Given the description of an element on the screen output the (x, y) to click on. 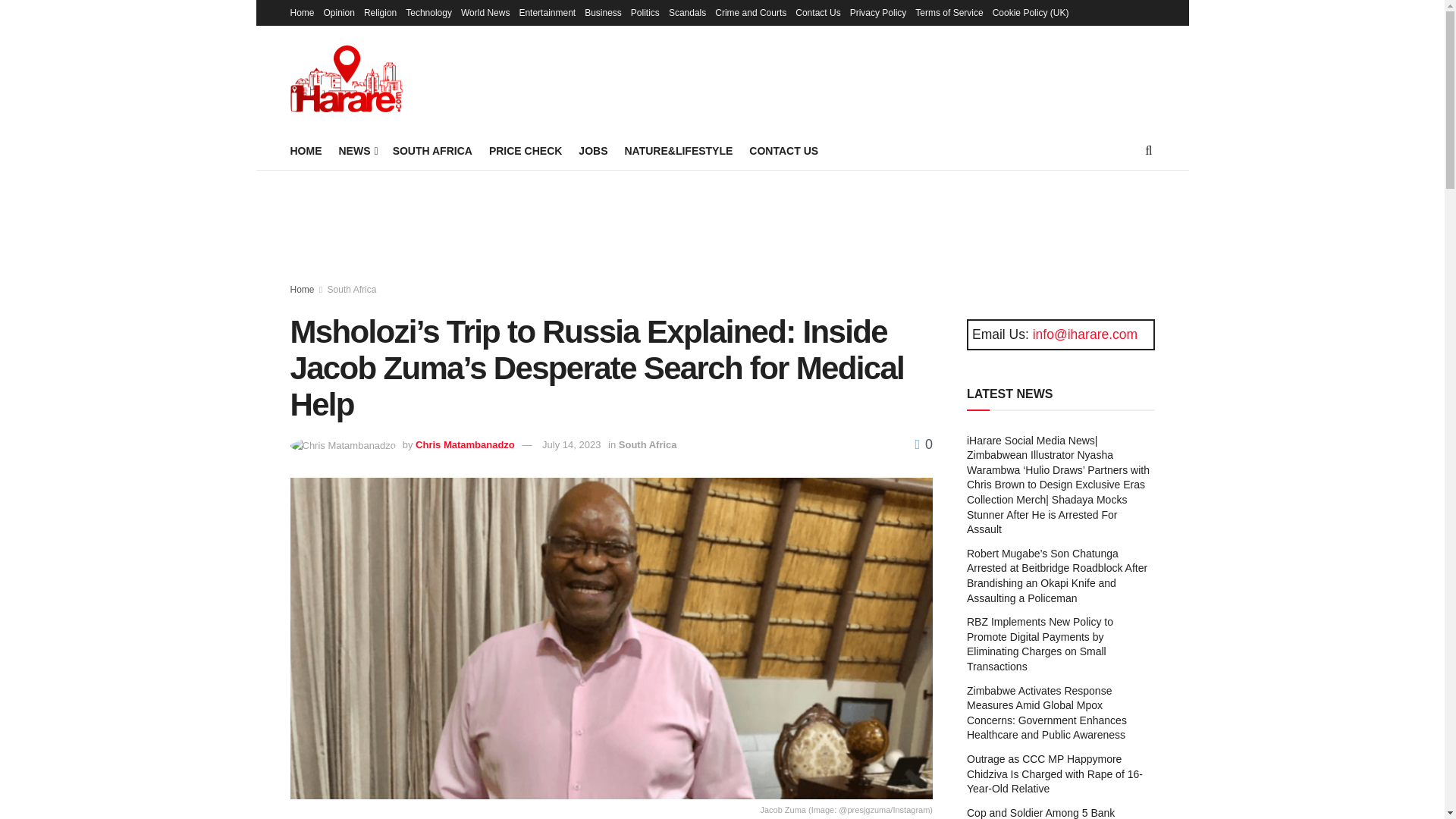
Opinion (339, 12)
NEWS (356, 150)
Home (301, 12)
HOME (305, 150)
JOBS (592, 150)
Religion (380, 12)
Technology (428, 12)
Scandals (687, 12)
CONTACT US (783, 150)
PRICE CHECK (525, 150)
